Given the description of an element on the screen output the (x, y) to click on. 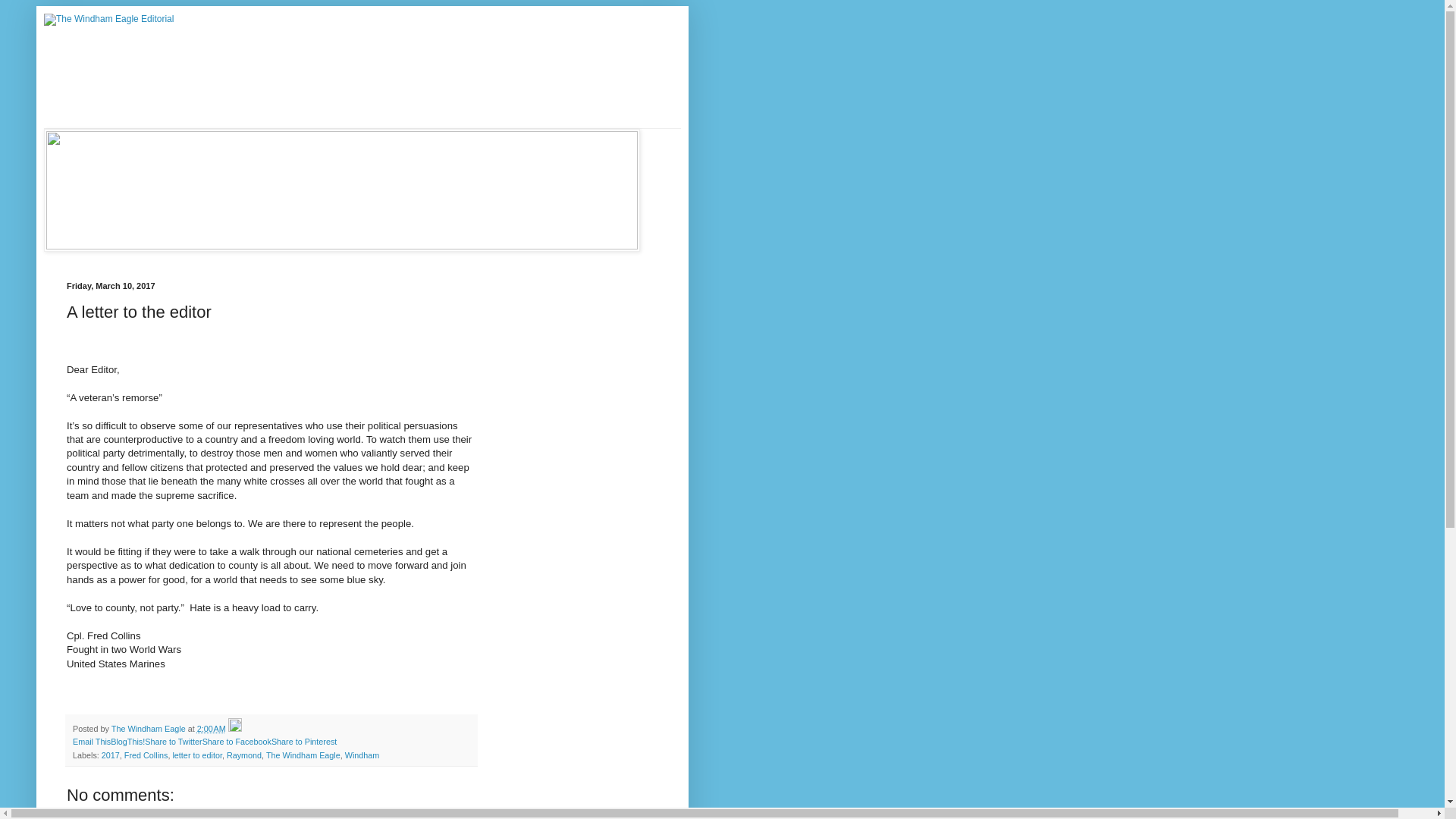
author profile (149, 728)
BlogThis! (127, 741)
Share to Pinterest (303, 741)
2017 (110, 755)
Share to Twitter (173, 741)
Email This (91, 741)
Windham (362, 755)
BlogThis! (127, 741)
The Windham Eagle (149, 728)
Raymond (244, 755)
